Given the description of an element on the screen output the (x, y) to click on. 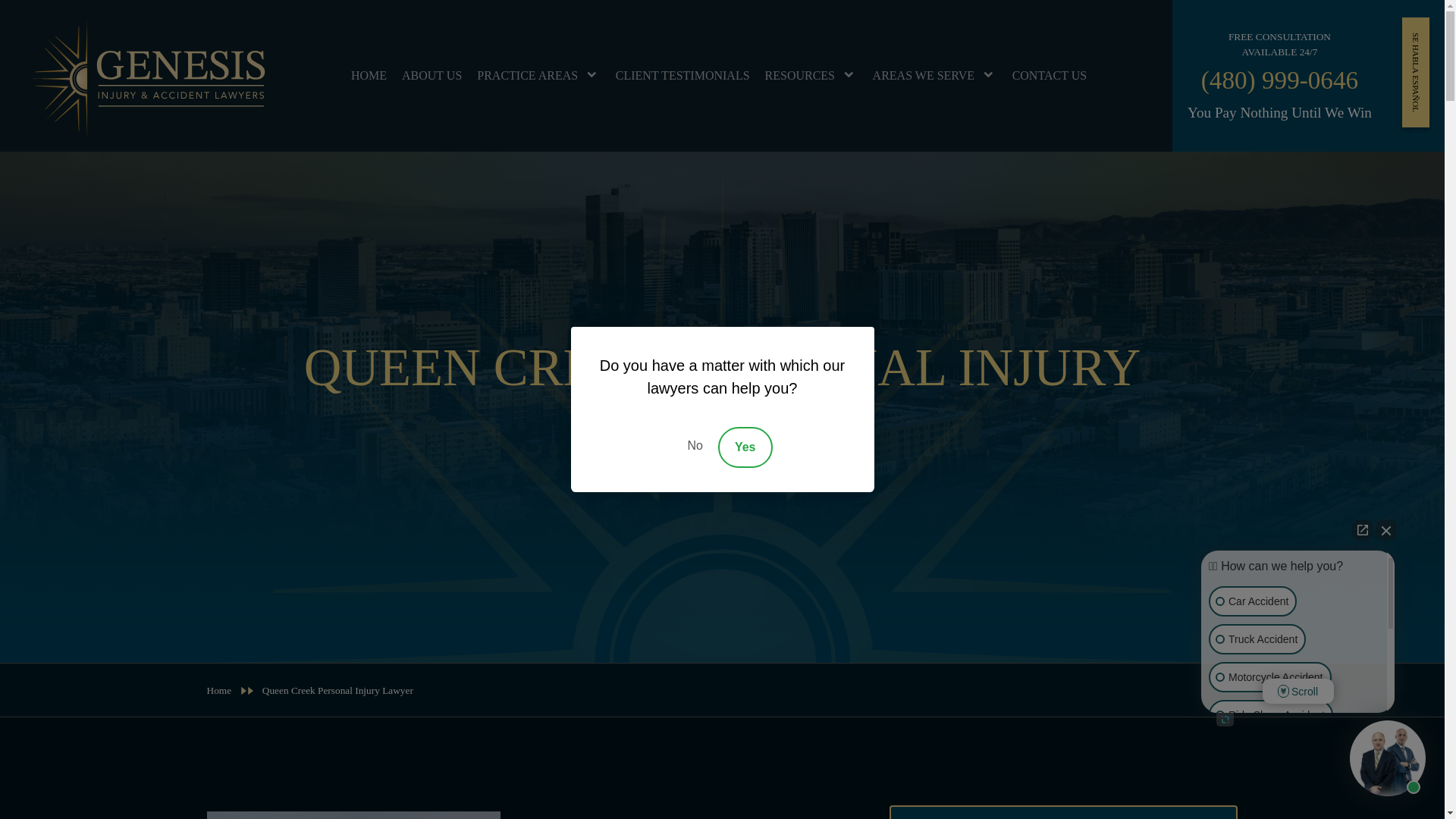
HOME (368, 75)
CLIENT TESTIMONIALS (682, 75)
ABOUT US (431, 75)
CONTACT US (1049, 75)
AREAS WE SERVE (934, 75)
PRACTICE AREAS (538, 75)
RESOURCES (810, 75)
